Given the description of an element on the screen output the (x, y) to click on. 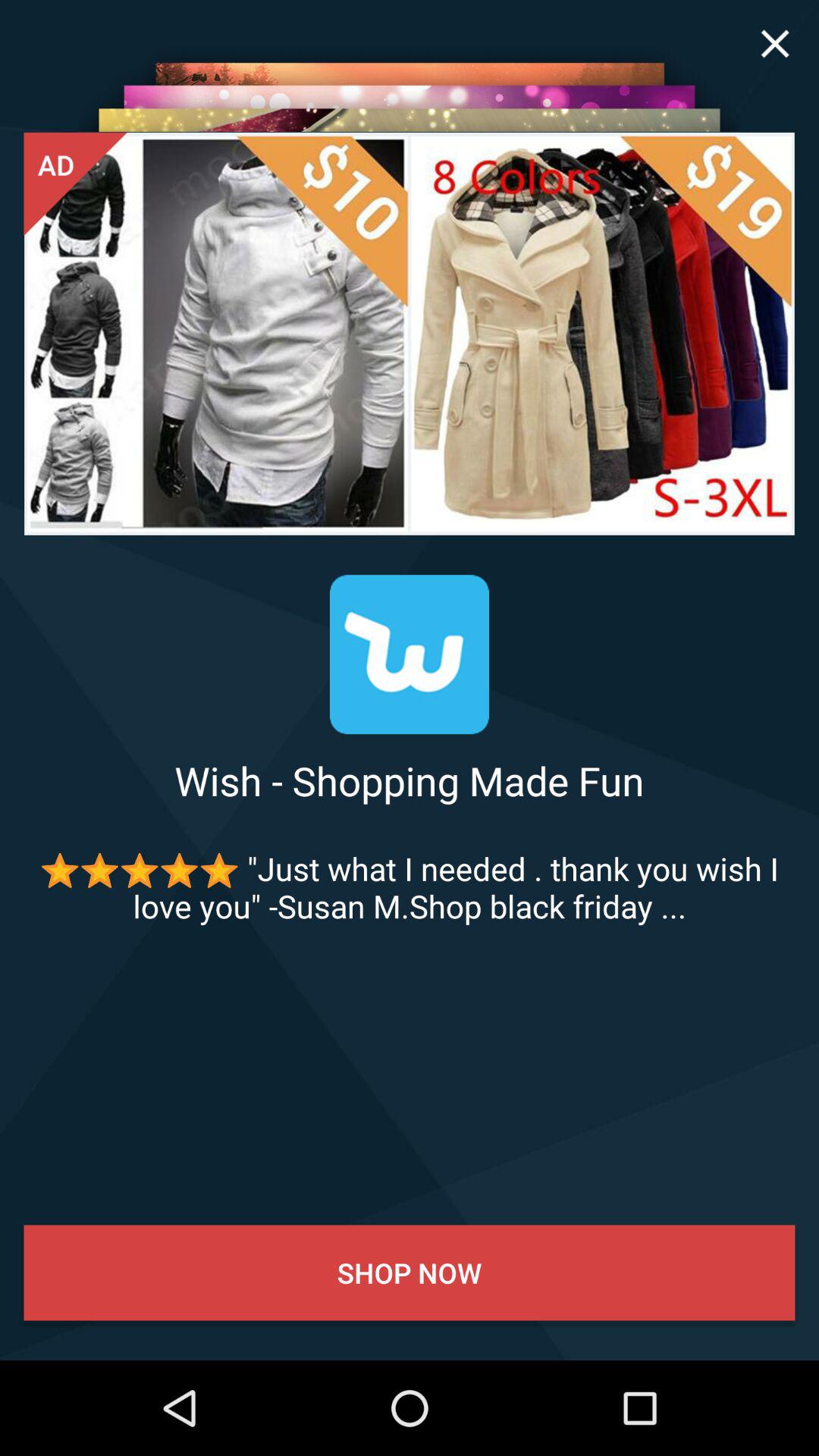
turn on icon above shop now item (409, 886)
